Given the description of an element on the screen output the (x, y) to click on. 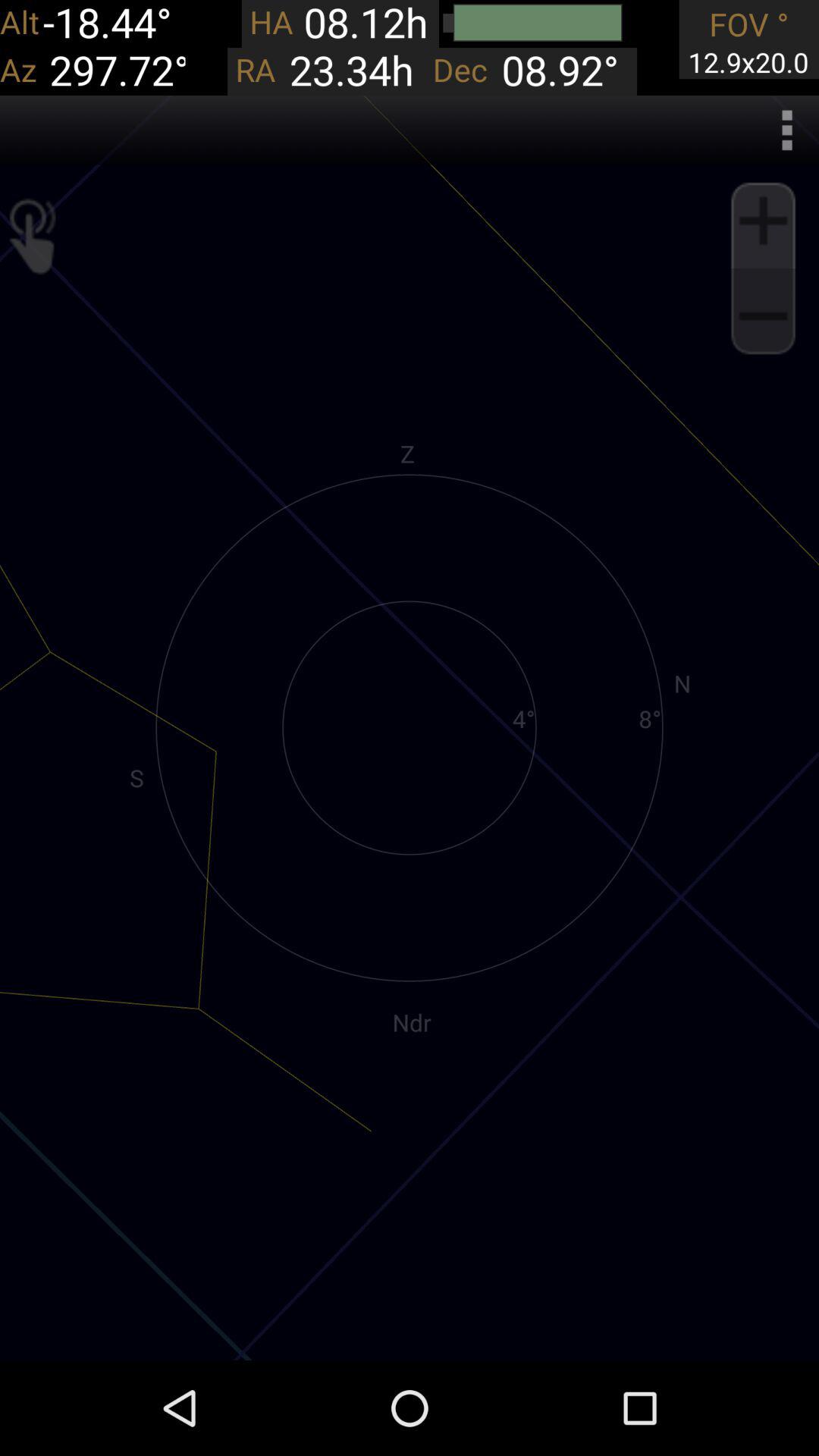
zoom out button (763, 316)
